Given the description of an element on the screen output the (x, y) to click on. 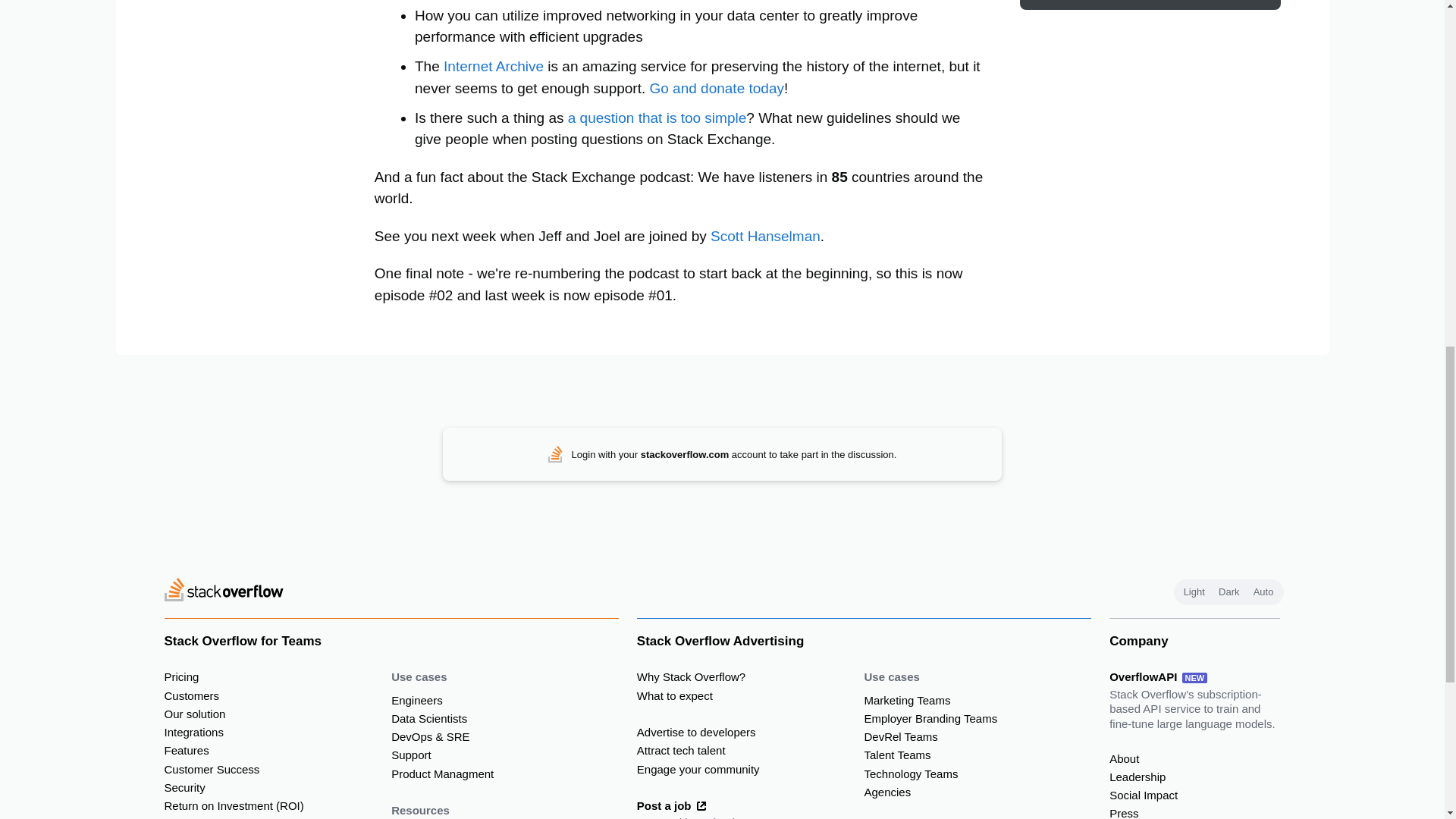
Our solution (277, 714)
a question that is too simple (656, 117)
Features (277, 751)
Customers (277, 696)
Internet Archive (493, 66)
Go and donate today (716, 88)
Integrations (277, 732)
Stack Overflow for Teams (390, 640)
Scott Hanselman (765, 236)
Pricing (277, 677)
Customer Success (277, 769)
Return to home (222, 592)
